Given the description of an element on the screen output the (x, y) to click on. 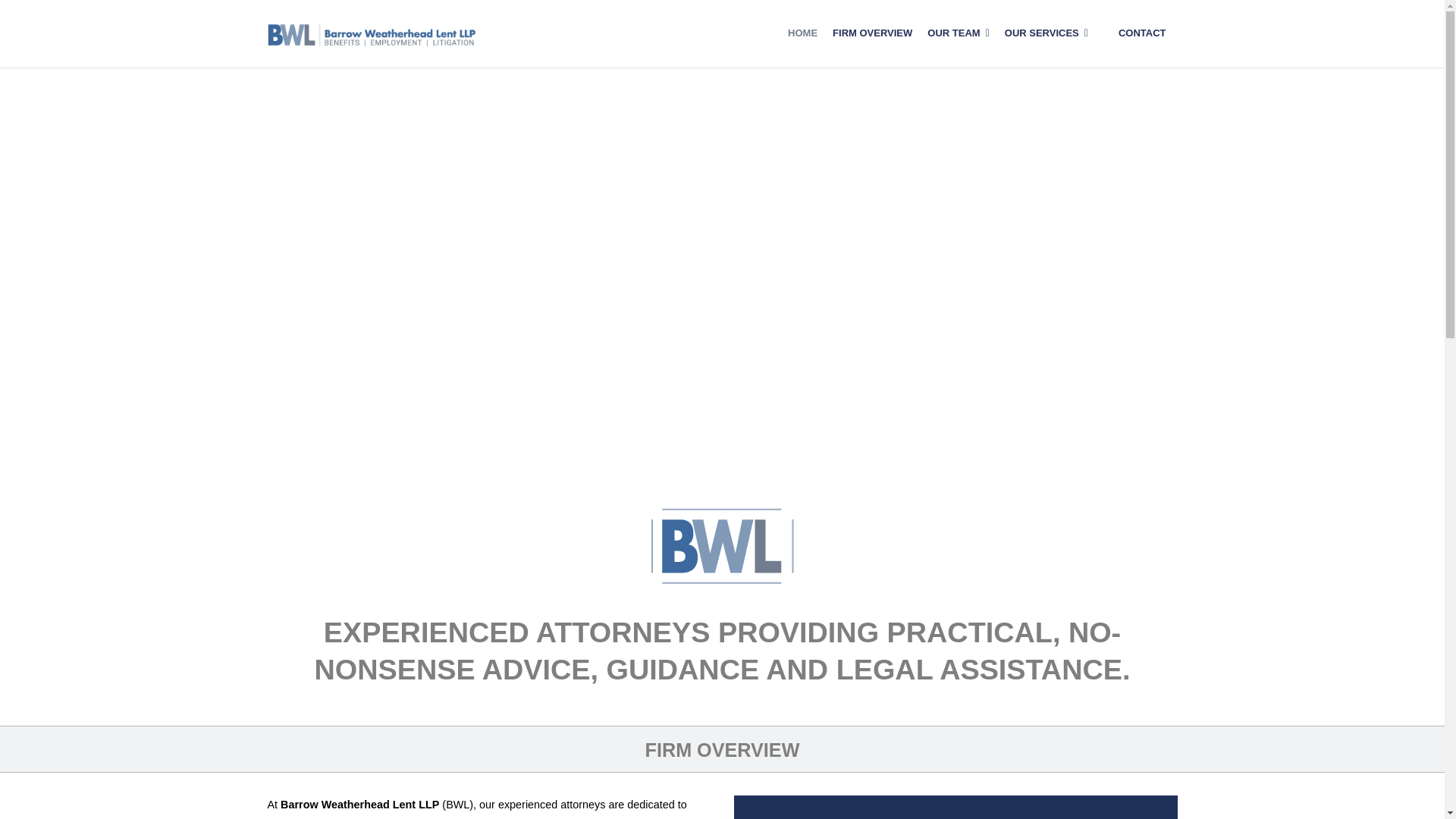
OUR SERVICES (1046, 33)
OUR TEAM (957, 33)
FIRM OVERVIEW (872, 33)
